Given the description of an element on the screen output the (x, y) to click on. 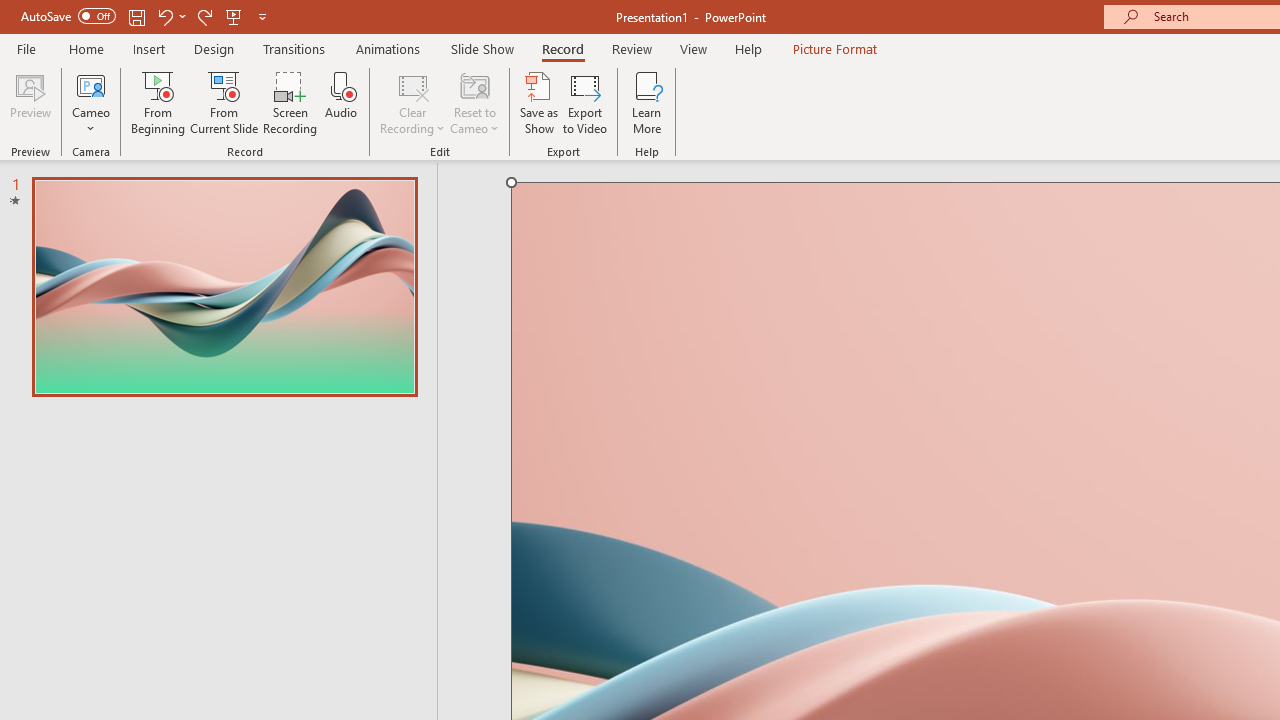
Picture Format (834, 48)
From Beginning... (158, 102)
Screen Recording (290, 102)
